Given the description of an element on the screen output the (x, y) to click on. 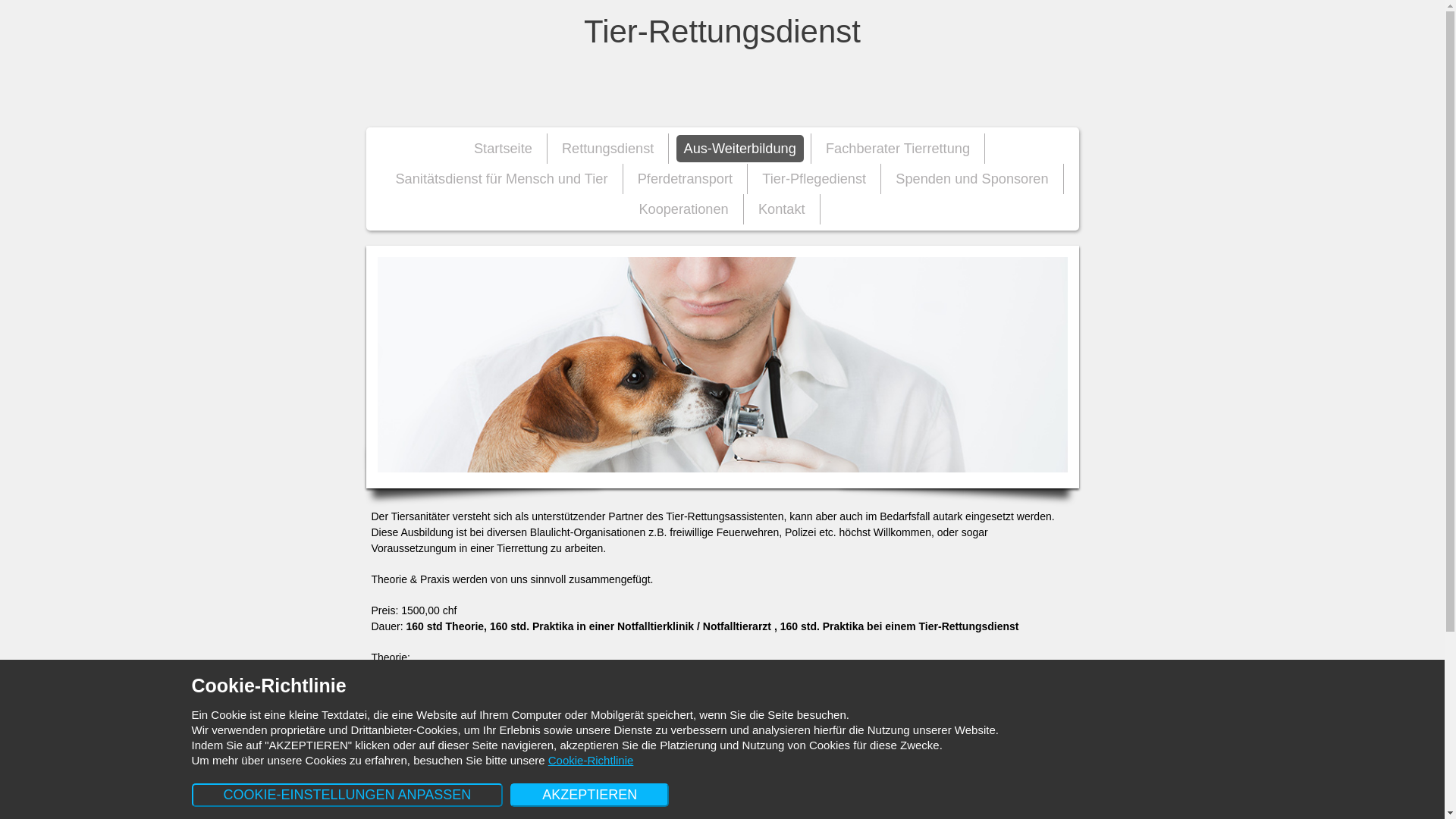
Kontakt Element type: text (781, 208)
Startseite Element type: text (502, 148)
Fachberater Tierrettung Element type: text (897, 148)
Aus-Weiterbildung Element type: text (739, 148)
Spenden und Sponsoren Element type: text (971, 178)
Cookie-Richtlinie Element type: text (590, 759)
Kooperationen Element type: text (682, 208)
Pferdetransport Element type: text (685, 178)
Tier-Rettungsdienst
  Element type: text (721, 63)
Rettungsdienst Element type: text (607, 148)
Tier-Pflegedienst Element type: text (813, 178)
COOKIE-EINSTELLUNGEN ANPASSEN Element type: text (346, 794)
AKZEPTIEREN Element type: text (589, 794)
